Given the description of an element on the screen output the (x, y) to click on. 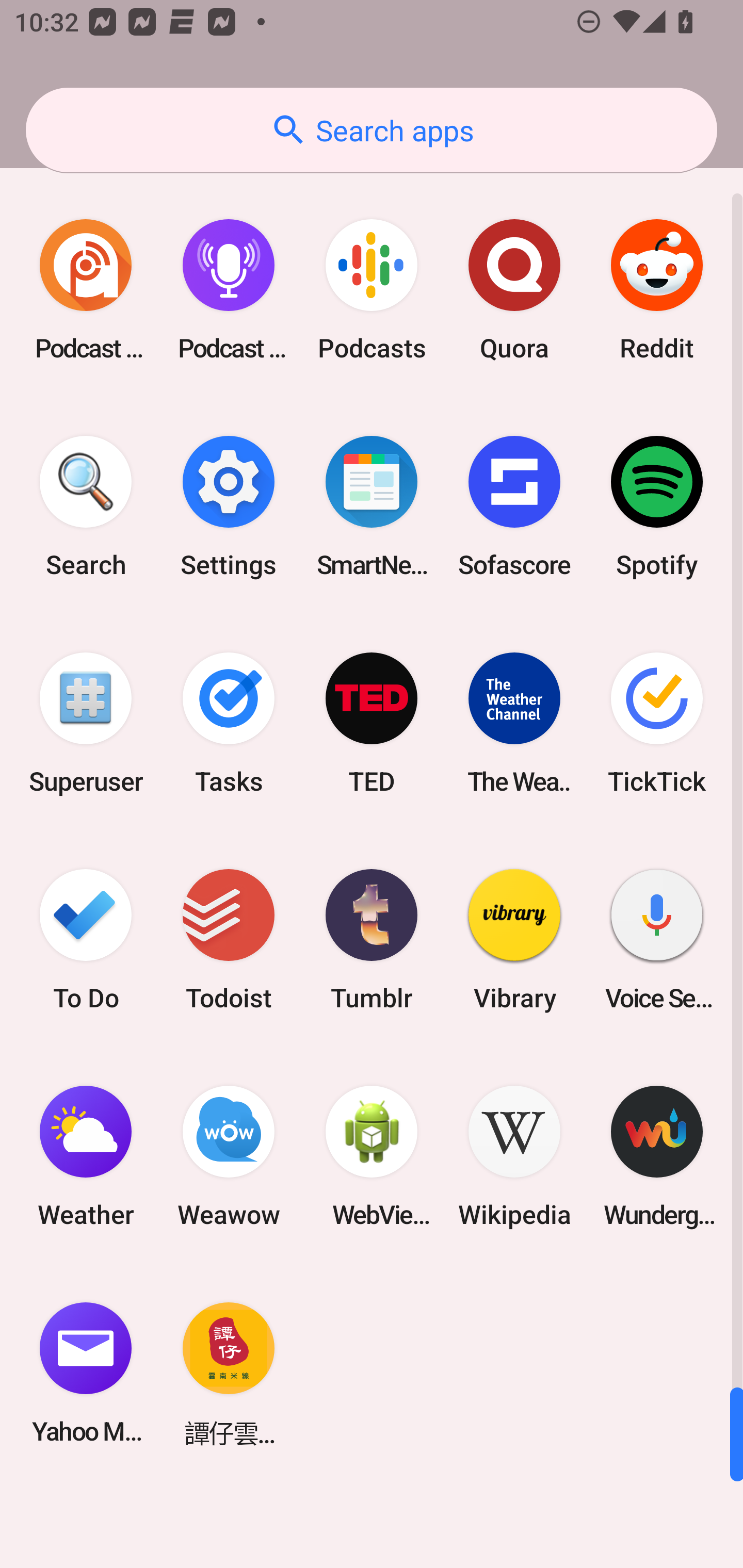
  Search apps (371, 130)
Podcast Addict (85, 289)
Podcast Player (228, 289)
Podcasts (371, 289)
Quora (514, 289)
Reddit (656, 289)
Search (85, 506)
Settings (228, 506)
SmartNews (371, 506)
Sofascore (514, 506)
Spotify (656, 506)
Superuser (85, 722)
Tasks (228, 722)
TED (371, 722)
The Weather Channel (514, 722)
TickTick (656, 722)
To Do (85, 939)
Todoist (228, 939)
Tumblr (371, 939)
Vibrary (514, 939)
Voice Search (656, 939)
Weather (85, 1156)
Weawow (228, 1156)
WebView Browser Tester (371, 1156)
Wikipedia (514, 1156)
Wunderground (656, 1156)
Yahoo Mail (85, 1373)
譚仔雲南米線 (228, 1373)
